Given the description of an element on the screen output the (x, y) to click on. 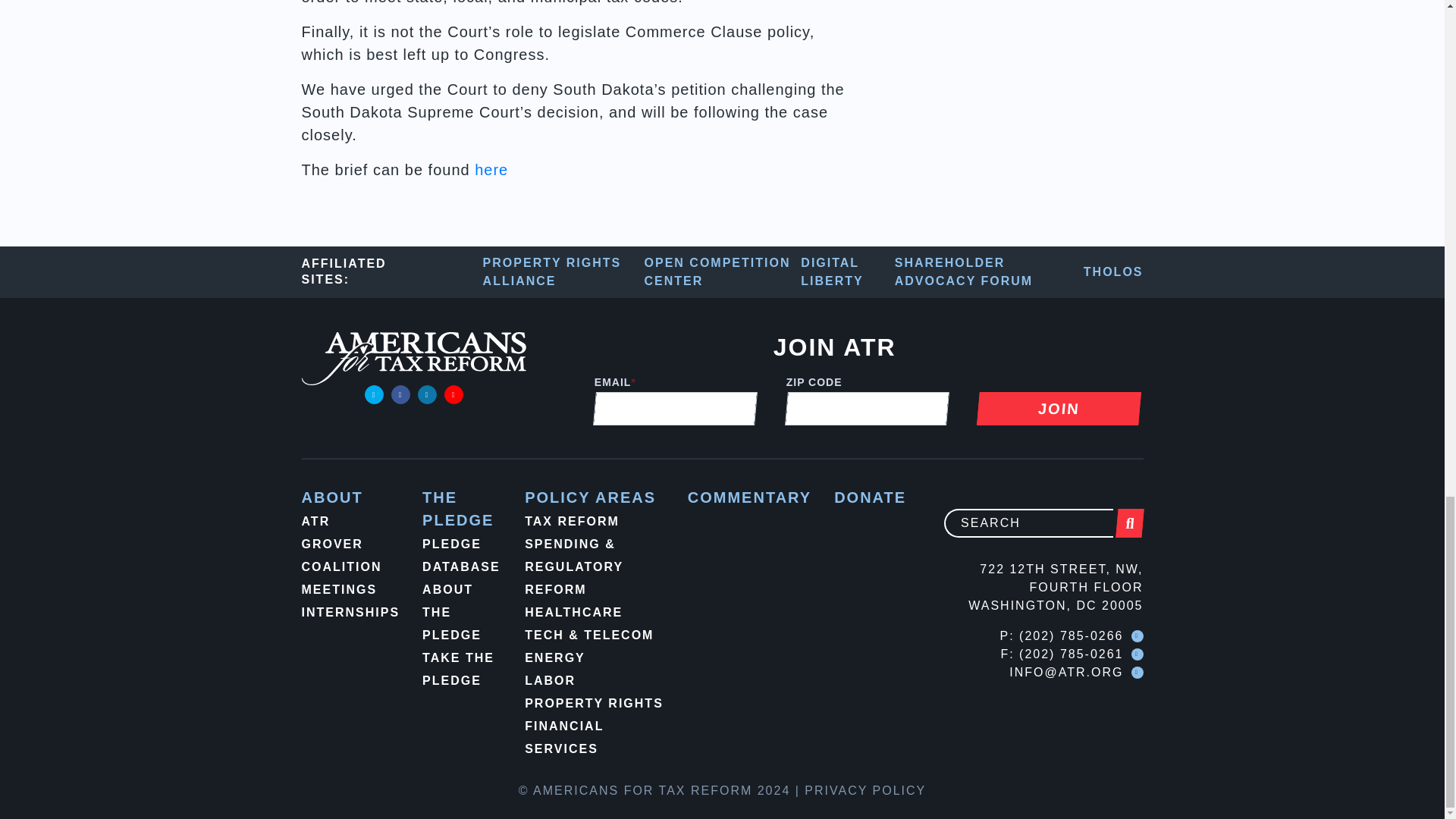
PROPERTY RIGHTS ALLIANCE (564, 271)
here (491, 169)
Join (1057, 408)
